Given the description of an element on the screen output the (x, y) to click on. 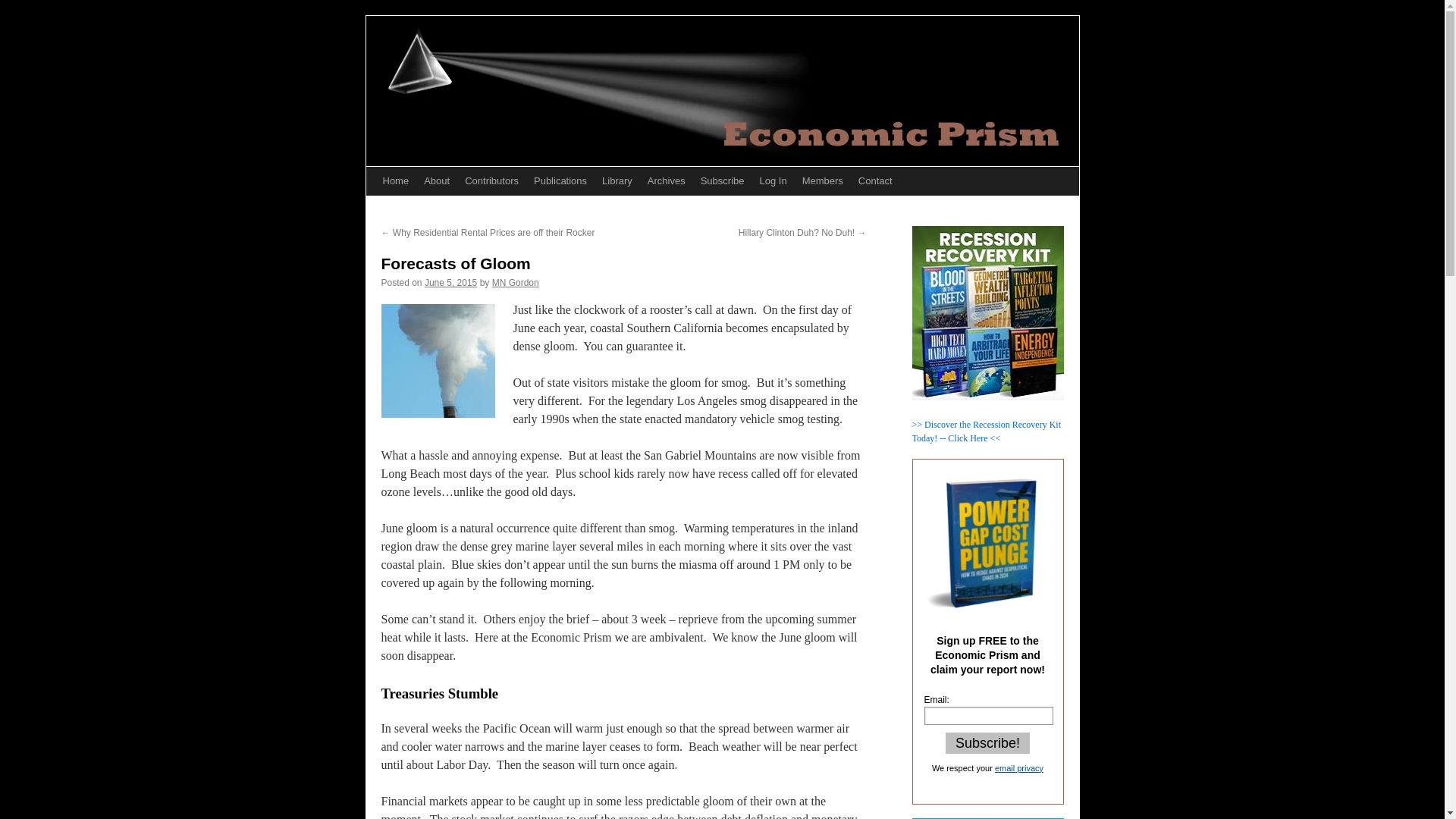
About (436, 181)
Skip to content (372, 210)
1:05 am (451, 282)
Skip to content (372, 210)
View all posts by MN Gordon (515, 282)
Subscribe! (986, 742)
Contact (874, 181)
Publications (559, 181)
Privacy Policy (1018, 768)
MN Gordon (515, 282)
Contributors (491, 181)
Log In (773, 181)
June 5, 2015 (451, 282)
Forecasts of Gloom (437, 360)
Subscribe (722, 181)
